Given the description of an element on the screen output the (x, y) to click on. 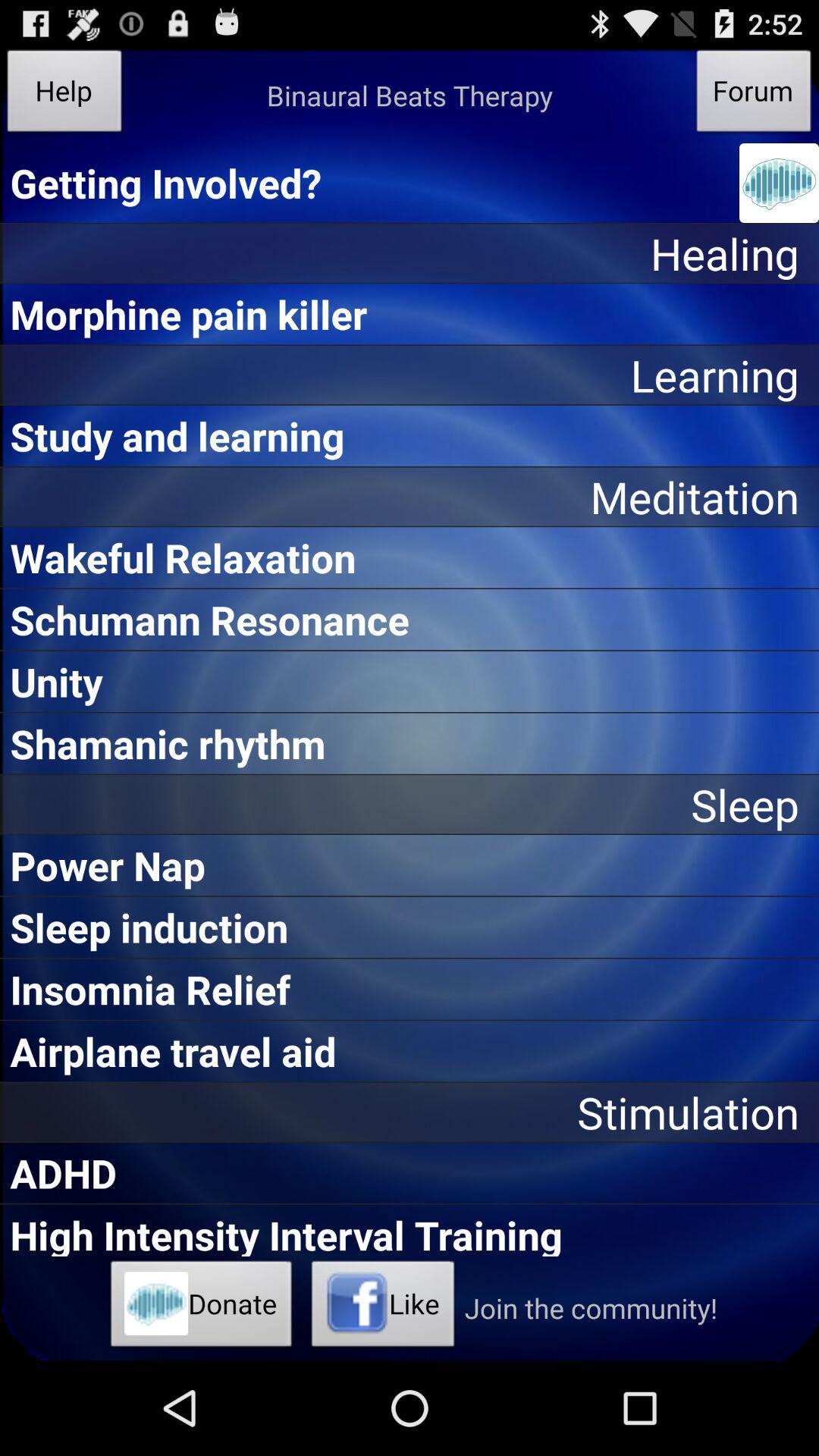
tap the icon to the right of the binaural beats therapy (754, 95)
